Given the description of an element on the screen output the (x, y) to click on. 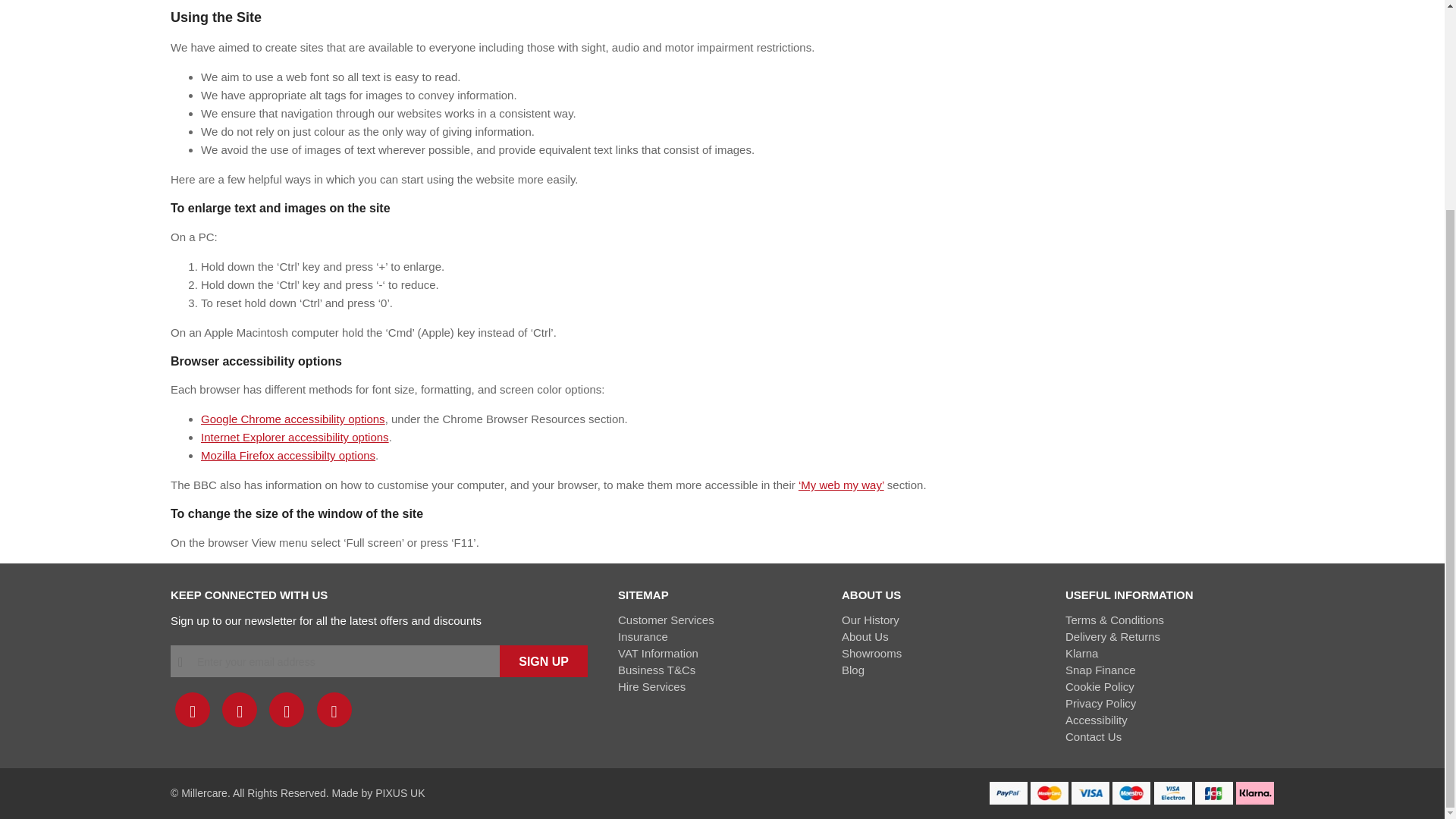
PIXUS Web Design (400, 793)
Sign Up (543, 661)
Facebook (191, 709)
Instagram (286, 709)
YouTube (334, 709)
Twitter (239, 709)
